Given the description of an element on the screen output the (x, y) to click on. 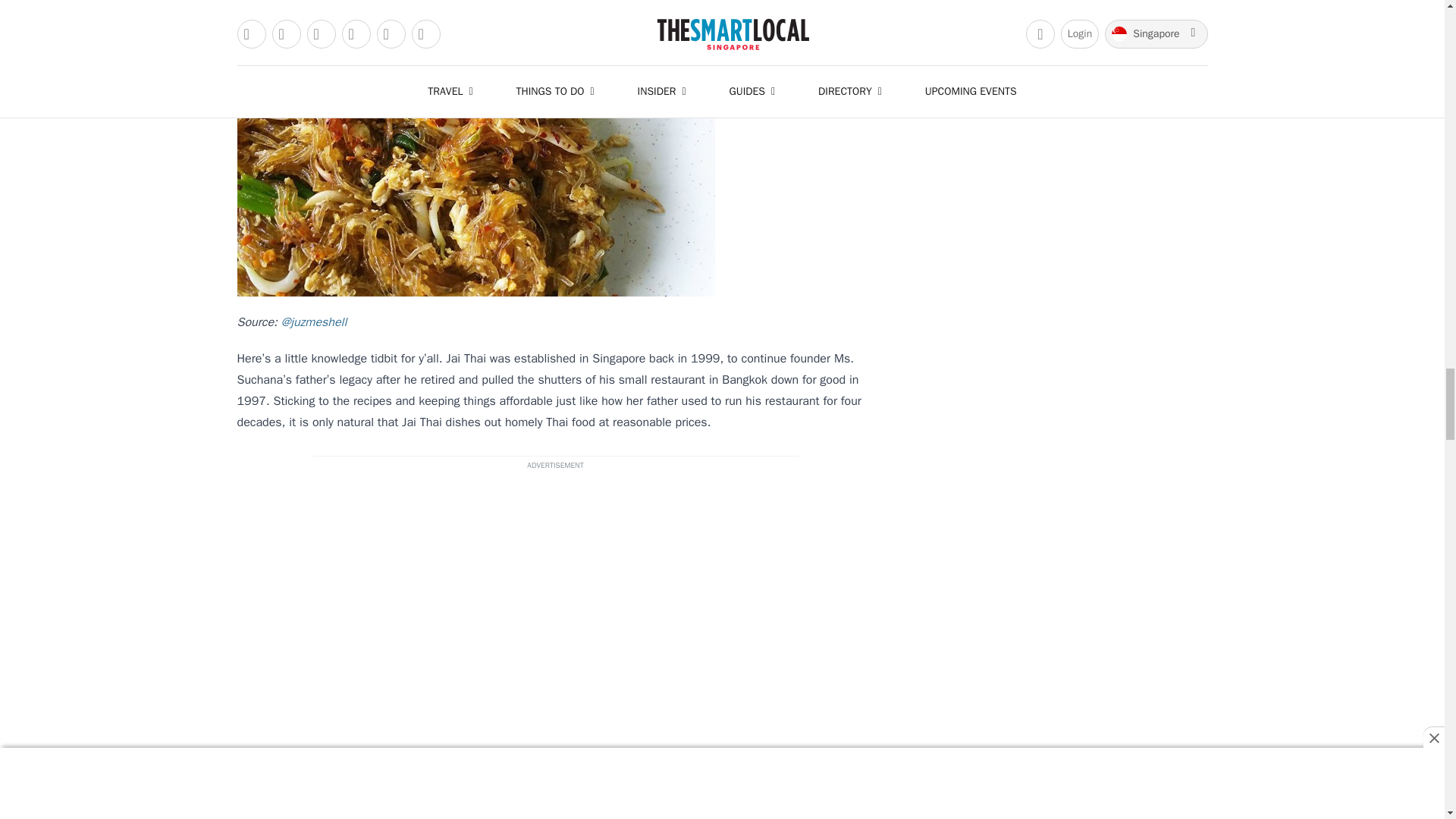
3rd party ad content (555, 611)
